Given the description of an element on the screen output the (x, y) to click on. 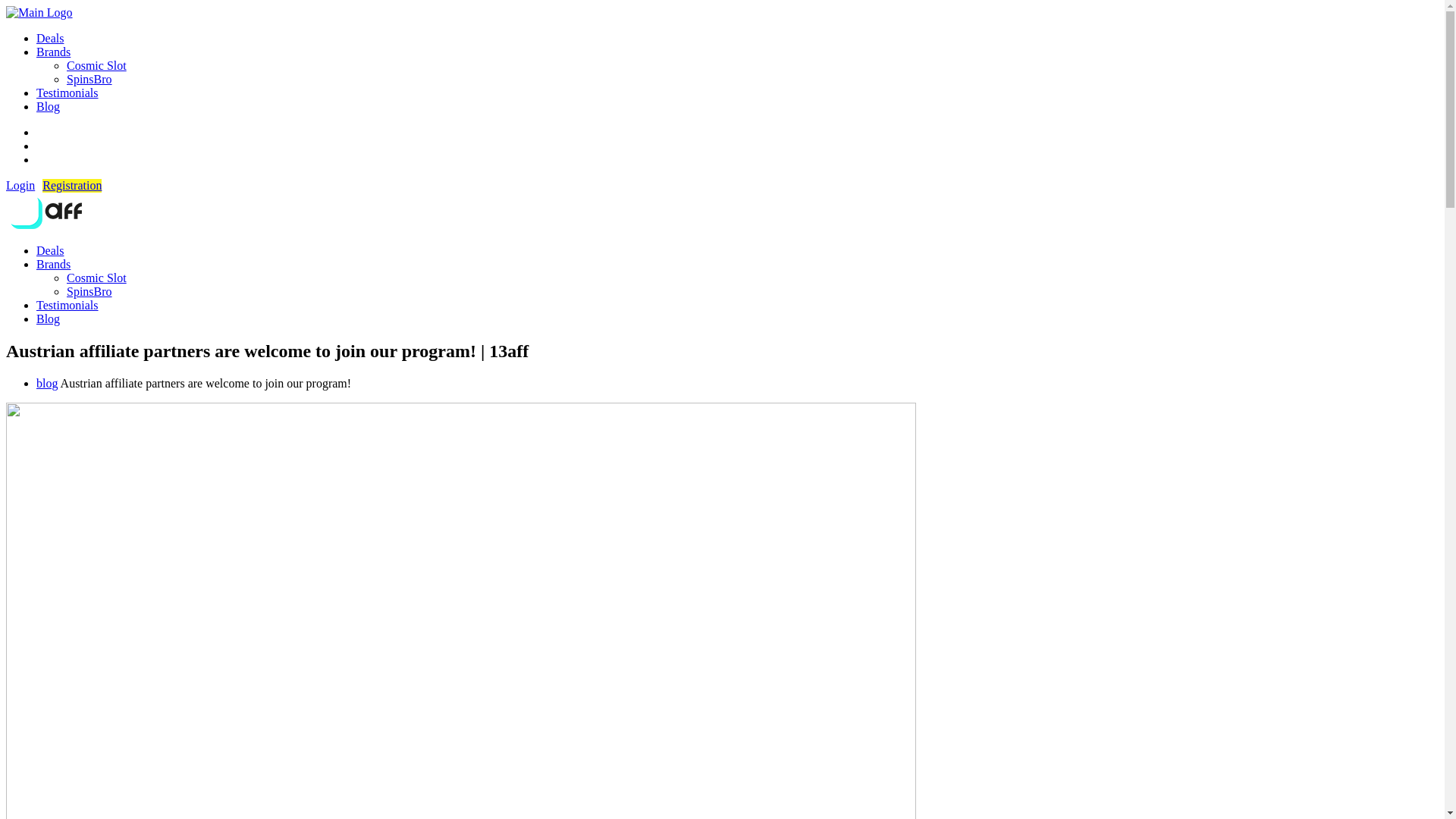
Login Element type: text (20, 184)
Cosmic Slot Element type: text (96, 65)
Deals Element type: text (49, 37)
Brands Element type: text (53, 51)
Brands Element type: text (53, 263)
Blog Element type: text (47, 106)
Registration Element type: text (71, 184)
Cosmic Slot Element type: text (96, 277)
Testimonials Element type: text (67, 304)
SpinsBro Element type: text (89, 78)
Testimonials Element type: text (67, 92)
SpinsBro Element type: text (89, 291)
Blog Element type: text (47, 318)
Deals Element type: text (49, 250)
blog Element type: text (46, 382)
